Given the description of an element on the screen output the (x, y) to click on. 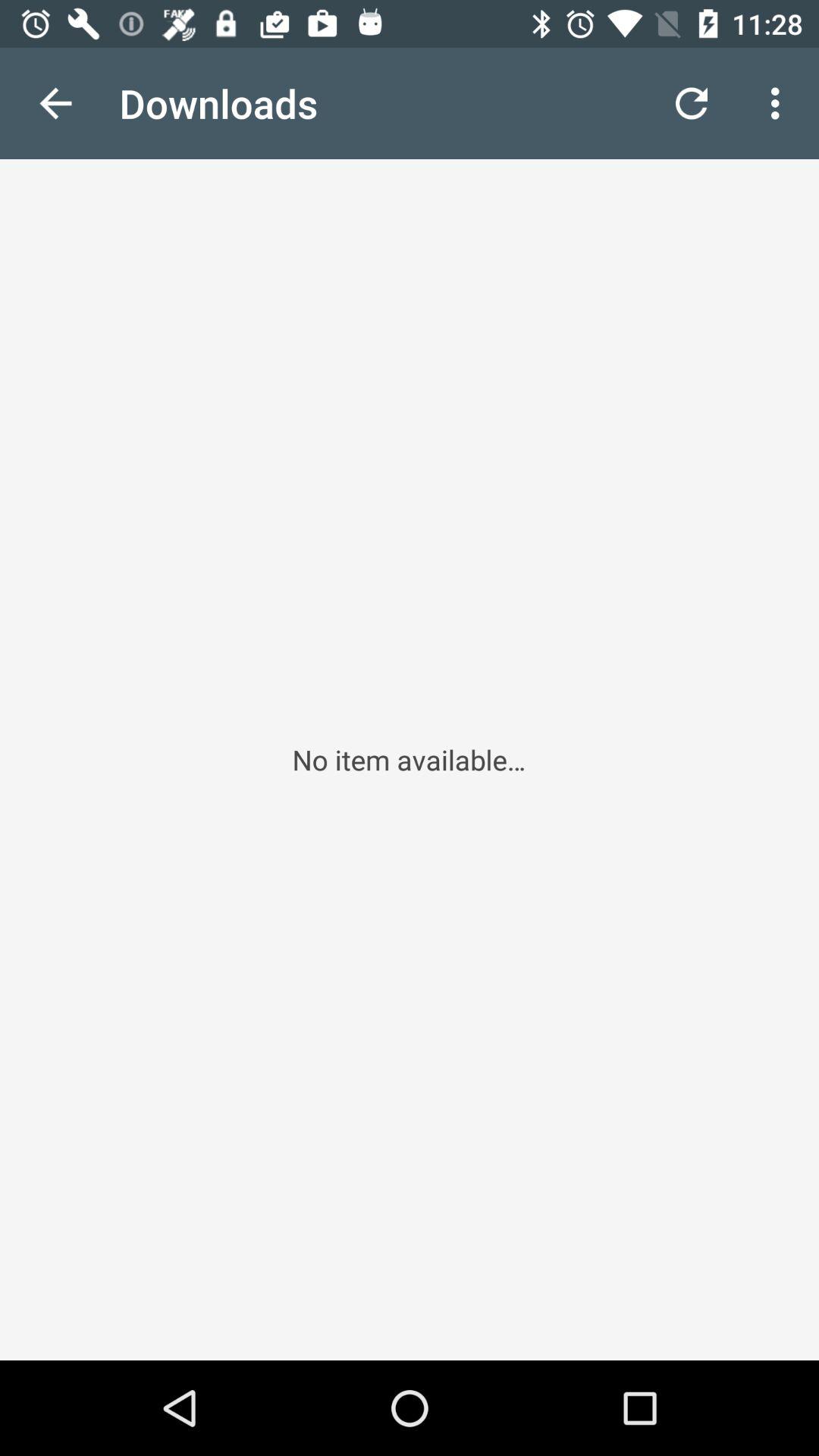
click icon to the right of downloads item (691, 103)
